Given the description of an element on the screen output the (x, y) to click on. 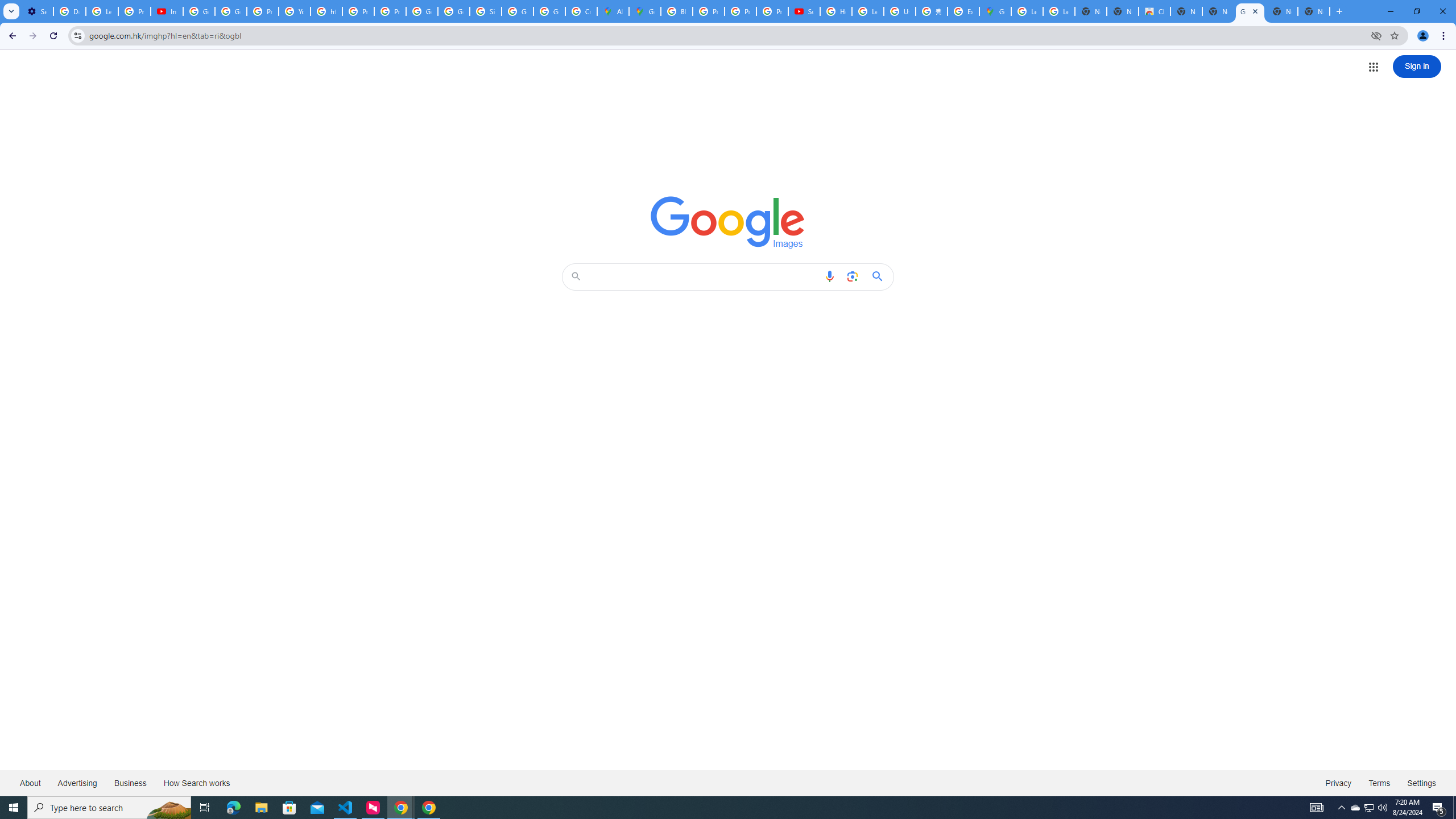
How Chrome protects your passwords - Google Chrome Help (836, 11)
About (30, 782)
Blogger Policies and Guidelines - Transparency Center (676, 11)
Google Account Help (230, 11)
Google Images (727, 222)
How Search works (196, 782)
